Given the description of an element on the screen output the (x, y) to click on. 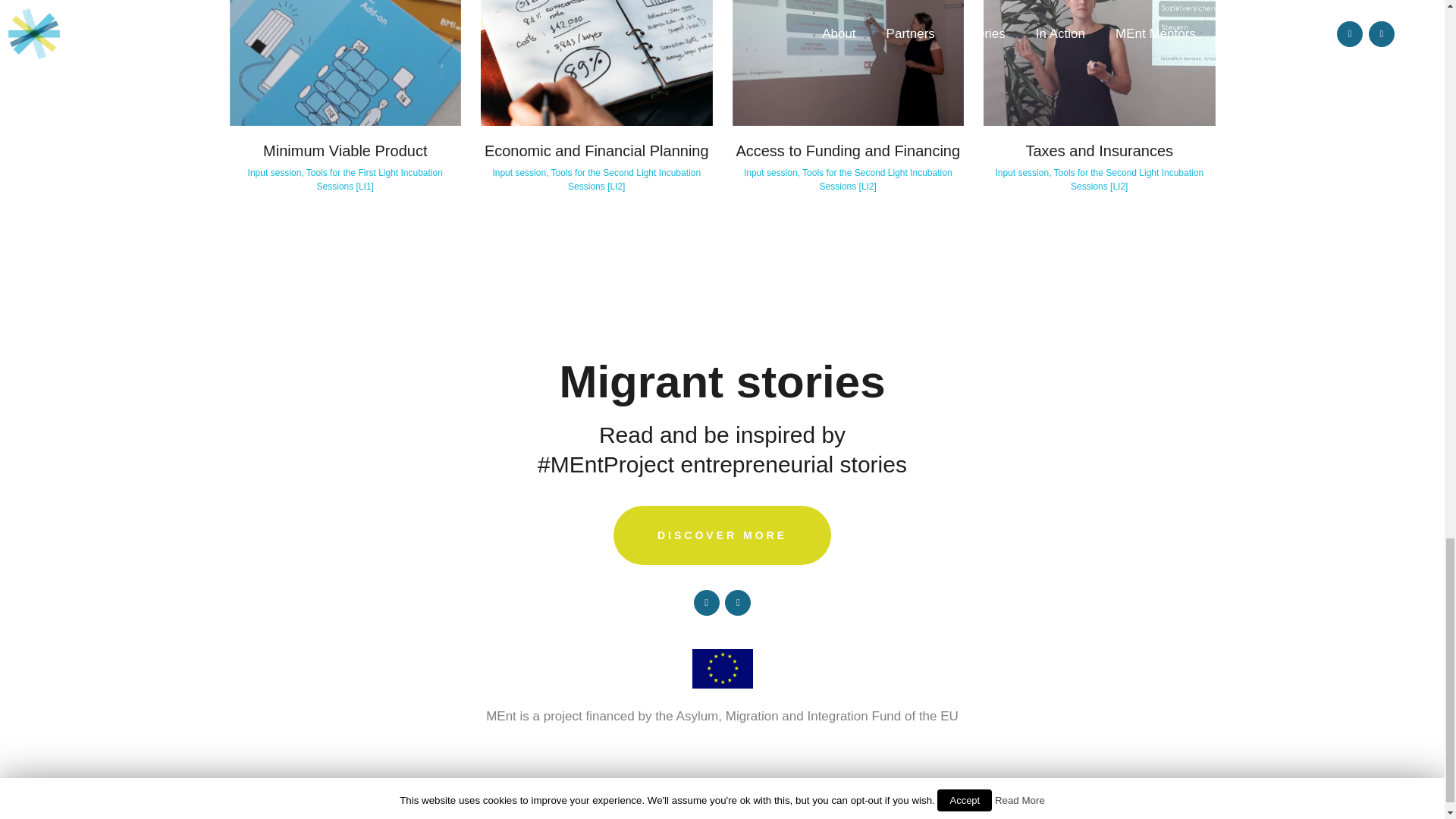
Minimum Viable Product (344, 150)
Access to Funding and Financing (847, 150)
Economic and Financial Planning (596, 150)
Taxes and Insurances (1099, 150)
